Given the description of an element on the screen output the (x, y) to click on. 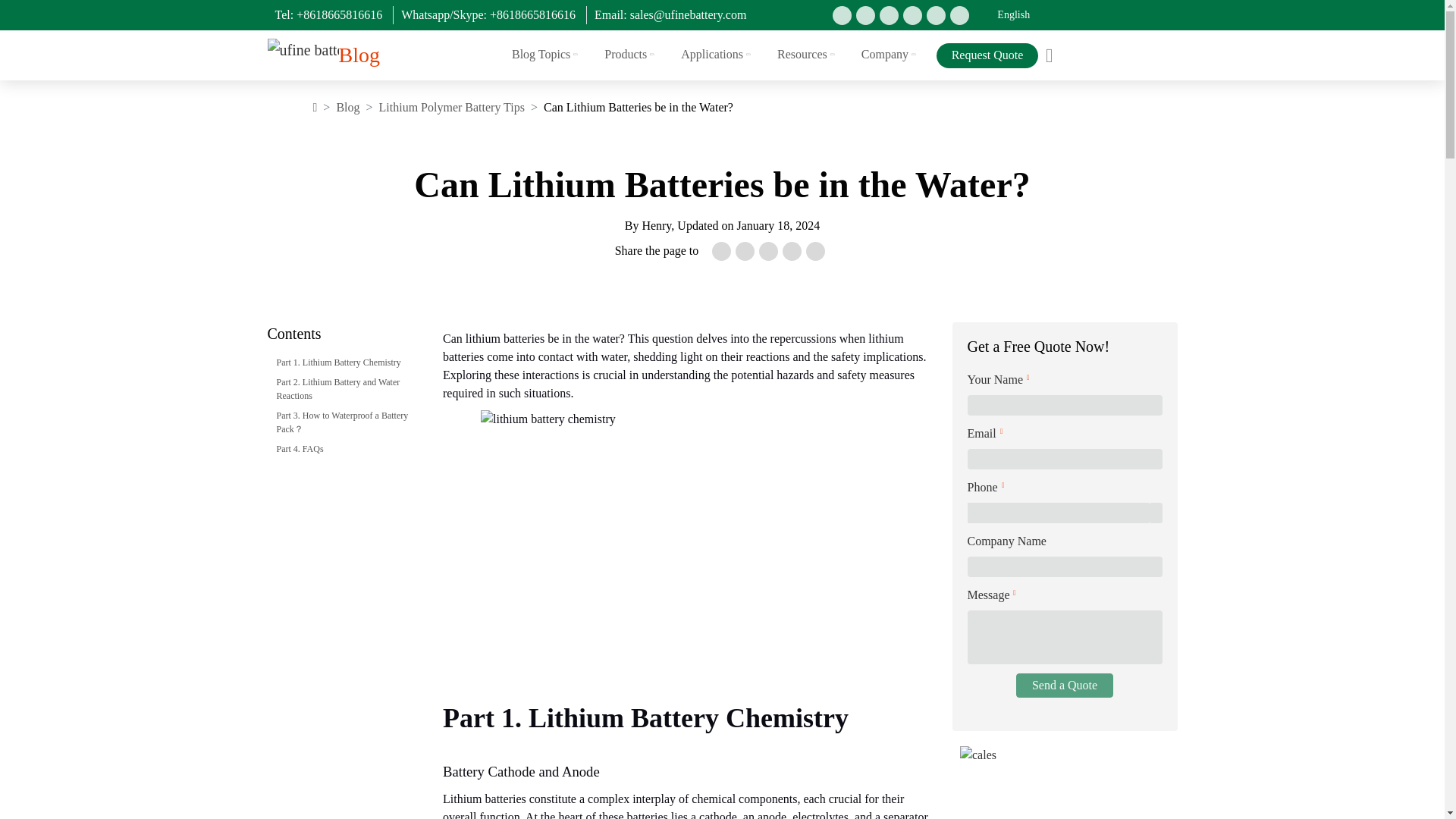
Blog Topics (545, 54)
English (1013, 15)
Blog (357, 55)
Products (630, 54)
English (1013, 15)
